Given the description of an element on the screen output the (x, y) to click on. 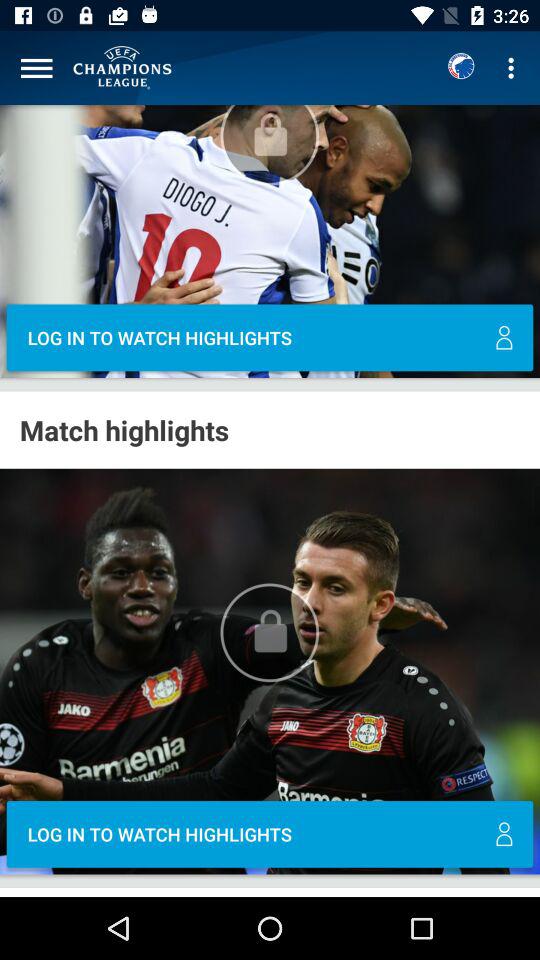
show menu items (36, 68)
